Given the description of an element on the screen output the (x, y) to click on. 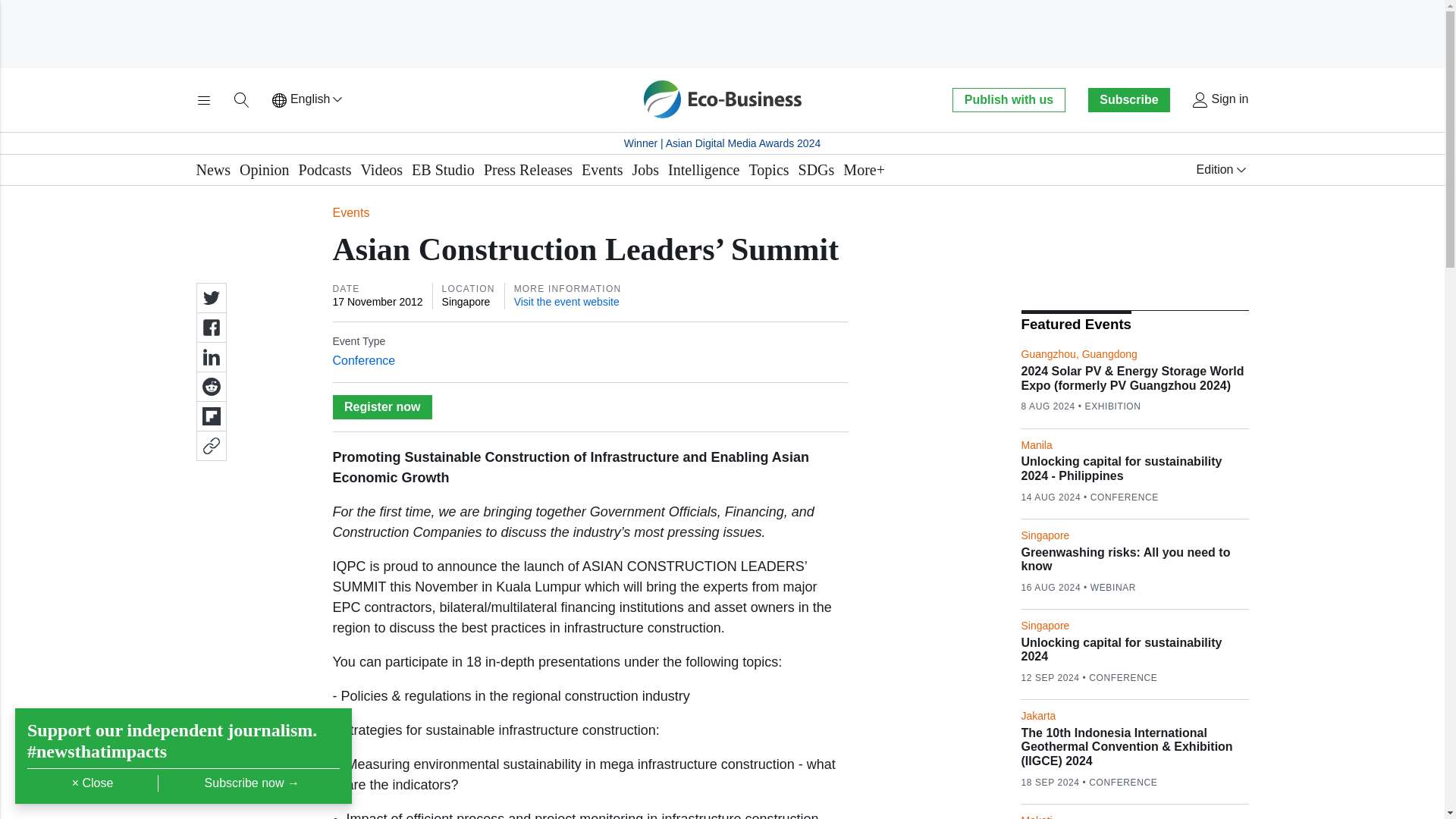
English (307, 99)
EB Studio (443, 169)
Menu (203, 99)
Share on Reddit (210, 386)
Share on Facebook (210, 327)
News (212, 169)
Opinion (264, 169)
Events (601, 169)
Toggle menu (203, 99)
Search (240, 99)
